Given the description of an element on the screen output the (x, y) to click on. 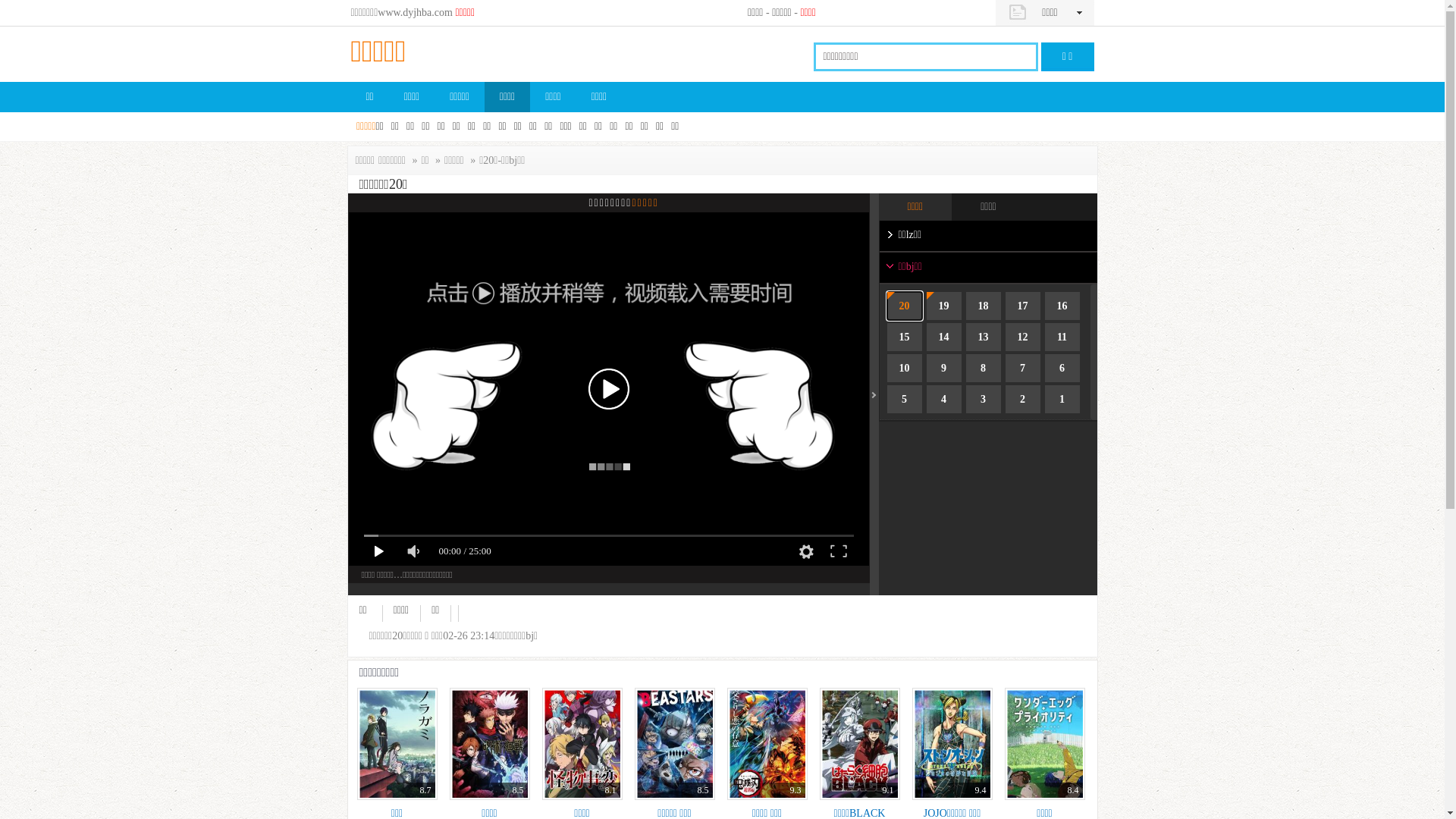
12 Element type: text (1022, 337)
8 Element type: text (983, 368)
8.4 Element type: text (1044, 743)
4 Element type: text (943, 399)
6 Element type: text (1061, 368)
9.1 Element type: text (859, 743)
9.3 Element type: text (766, 743)
18 Element type: text (983, 305)
8.7 Element type: text (396, 743)
15 Element type: text (904, 337)
9 Element type: text (943, 368)
1 Element type: text (1061, 399)
14 Element type: text (943, 337)
11 Element type: text (1061, 337)
16 Element type: text (1061, 305)
5 Element type: text (904, 399)
8.1 Element type: text (581, 743)
2 Element type: text (1022, 399)
17 Element type: text (1022, 305)
13 Element type: text (983, 337)
8.5 Element type: text (488, 743)
3 Element type: text (983, 399)
10 Element type: text (904, 368)
9.4 Element type: text (951, 743)
8.5 Element type: text (673, 743)
7 Element type: text (1022, 368)
